Given the description of an element on the screen output the (x, y) to click on. 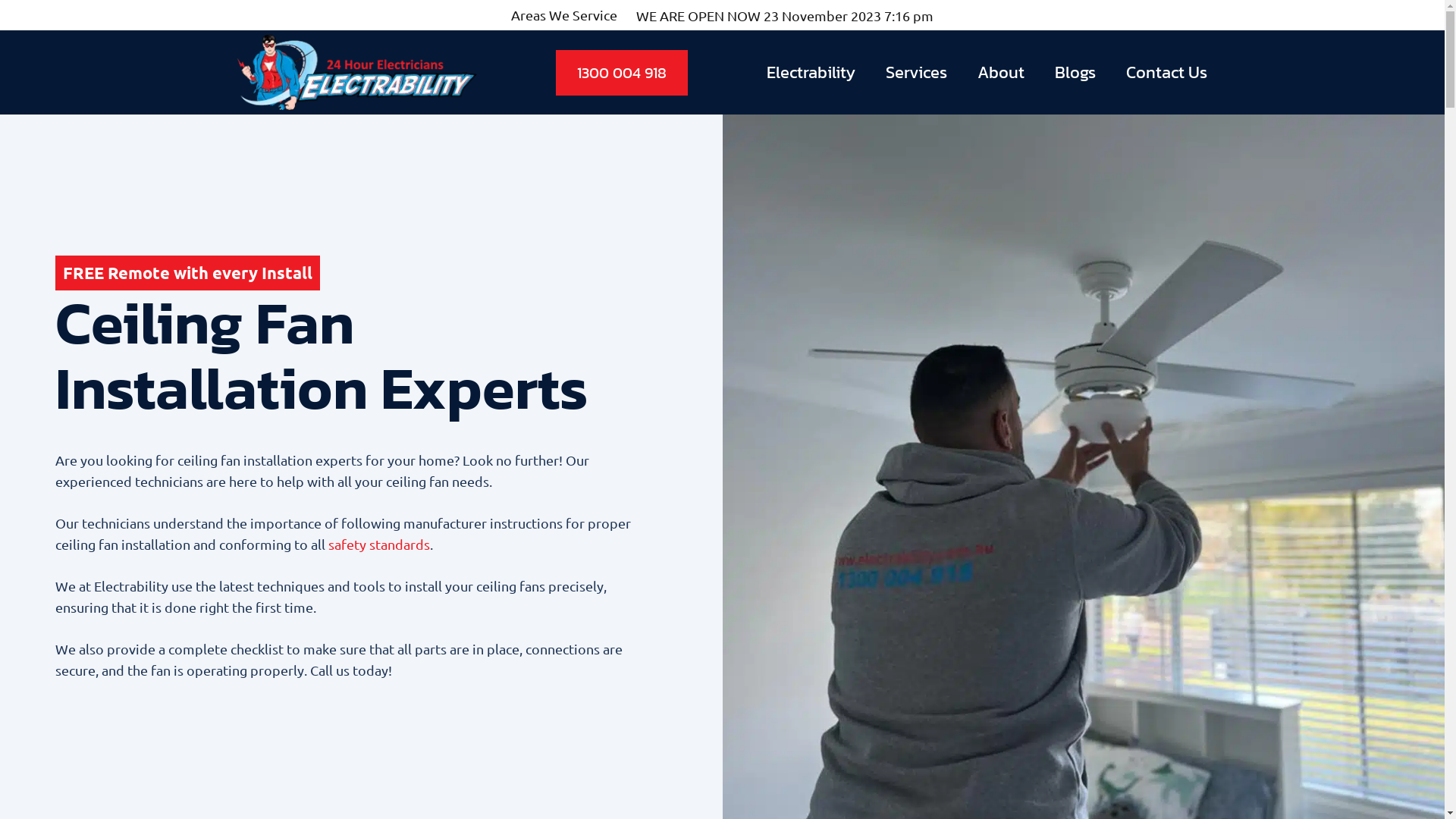
Services Element type: text (916, 72)
1300 004 918 Element type: text (621, 72)
Blogs Element type: text (1074, 72)
safety standards Element type: text (378, 544)
Areas We Service Element type: text (564, 14)
Electrability Element type: text (810, 72)
Contact Us Element type: text (1166, 72)
About Element type: text (1000, 72)
